Given the description of an element on the screen output the (x, y) to click on. 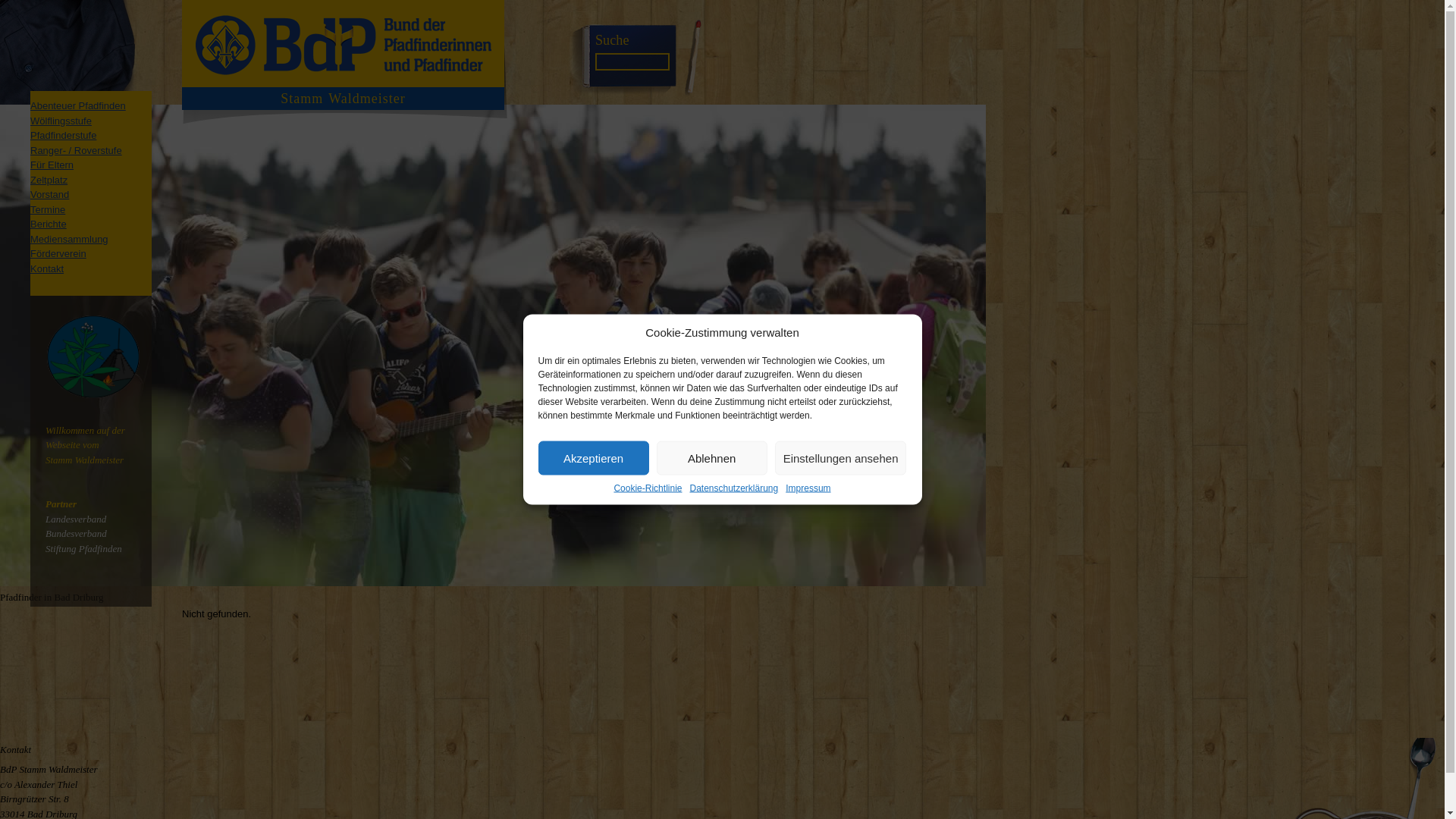
Einstellungen ansehen (840, 458)
Vorstand (49, 194)
Cookie-Richtlinie (646, 487)
Ablehnen (711, 458)
Zeltplatz (48, 179)
Suche nach: (632, 61)
Akzeptieren (593, 458)
Berichte (48, 224)
Suche (611, 39)
Pfadfinderstufe (63, 134)
